Given the description of an element on the screen output the (x, y) to click on. 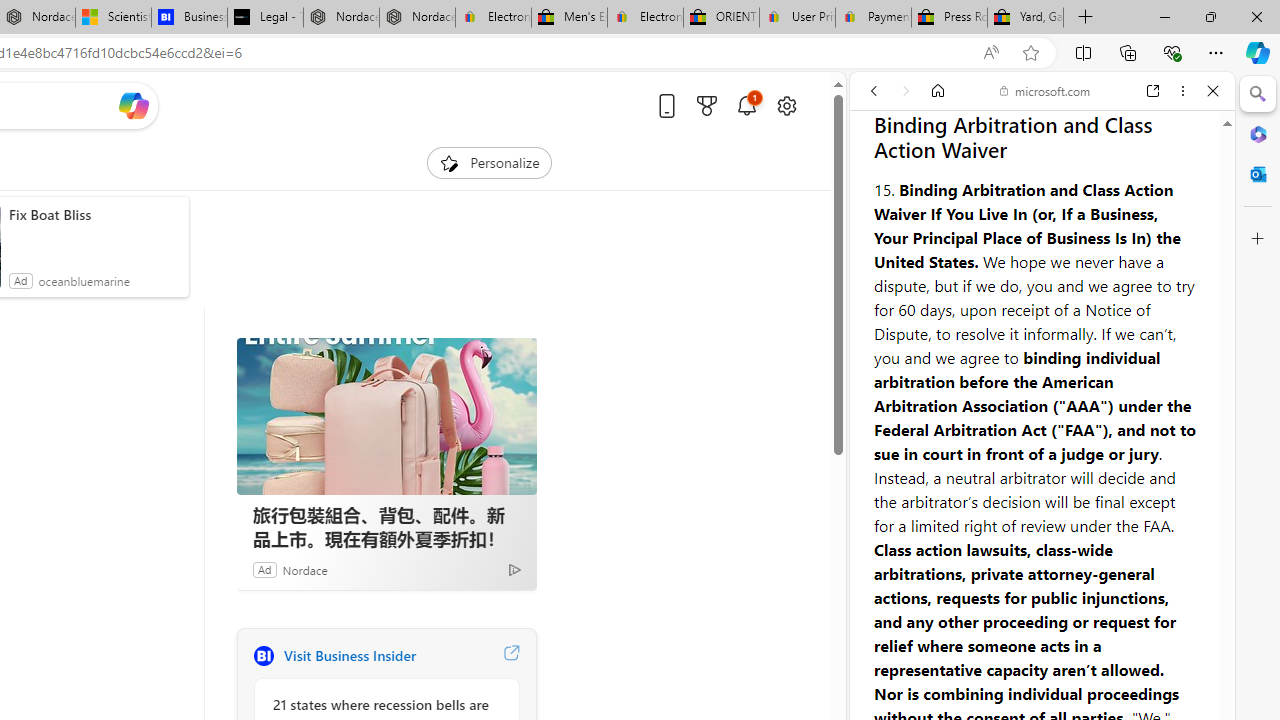
Visit Business Insider website (511, 655)
